Given the description of an element on the screen output the (x, y) to click on. 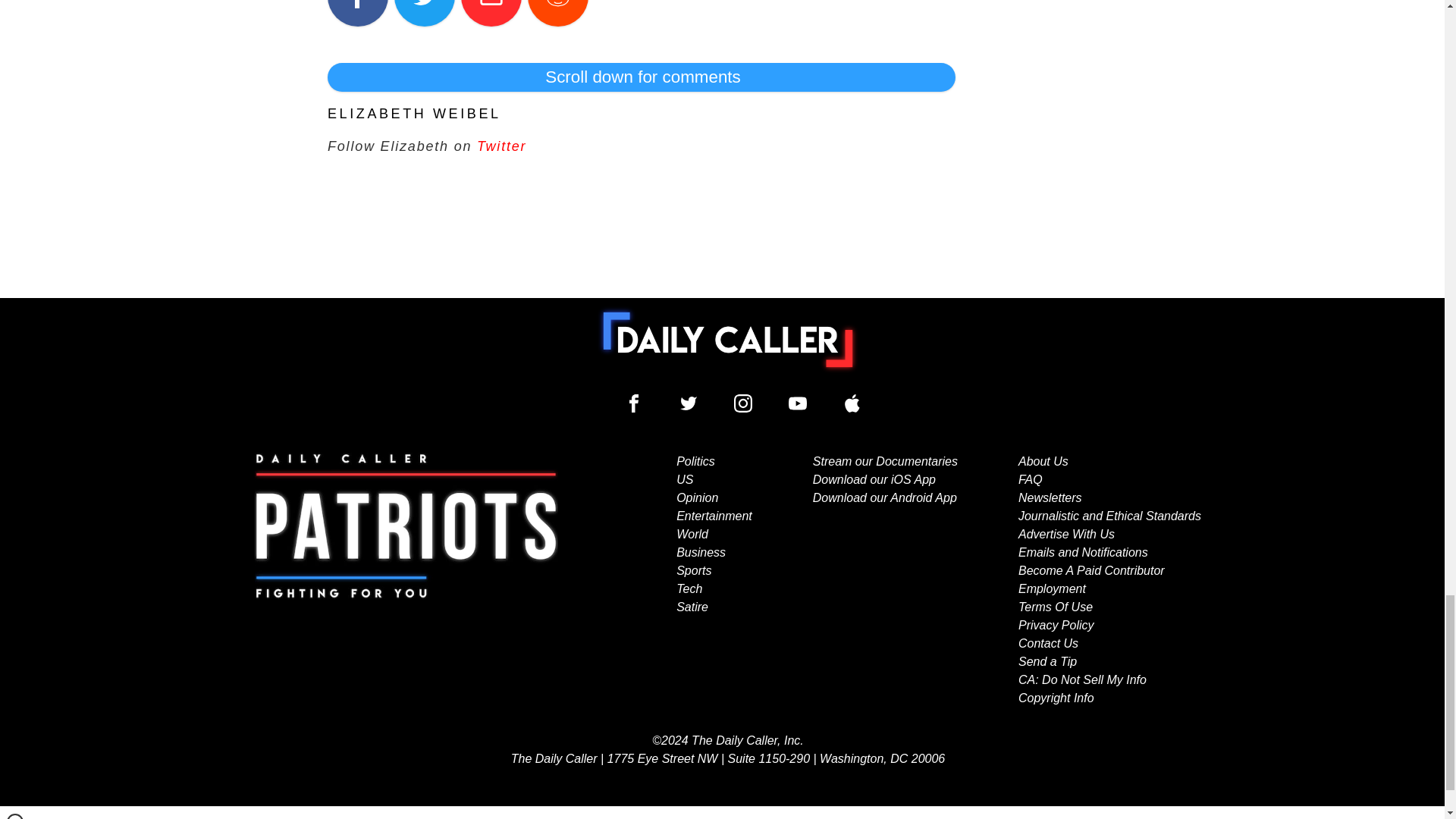
Daily Caller Twitter (688, 402)
Daily Caller Instagram (742, 402)
Scroll down for comments (641, 77)
Daily Caller YouTube (852, 402)
Daily Caller Facebook (633, 402)
Daily Caller YouTube (797, 402)
To home page (727, 339)
Subscribe to The Daily Caller (405, 579)
